Given the description of an element on the screen output the (x, y) to click on. 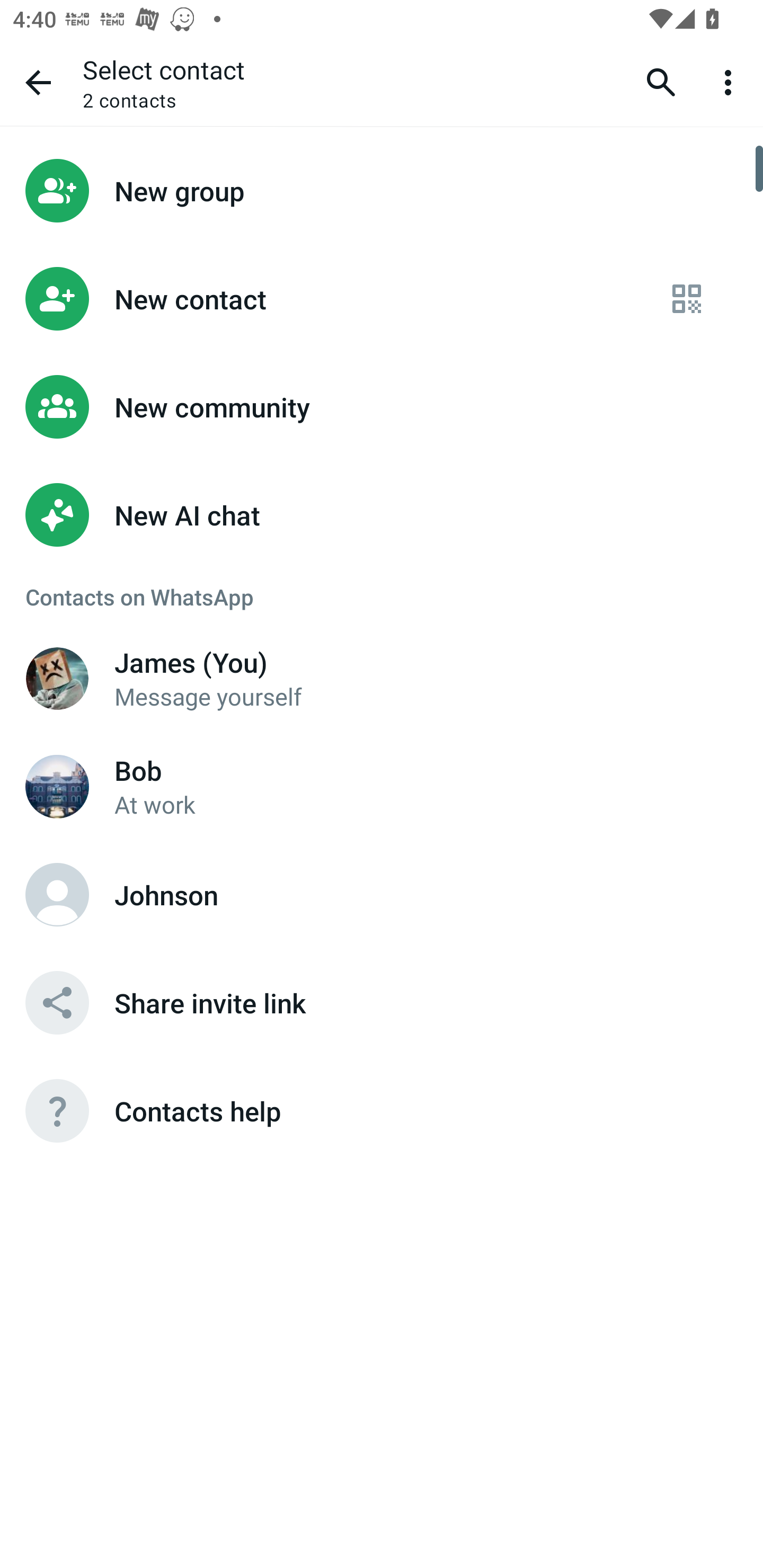
Navigate up (38, 82)
Search (661, 81)
More options (731, 81)
New group (381, 190)
New contact Scan, share QR code (381, 298)
Scan, share QR code (686, 298)
New community (381, 406)
New AI chat (381, 514)
Contacts on WhatsApp (381, 596)
+1 (646) 208-1425 James (You) Message yourself (381, 678)
+1 (646) 208-1425 (57, 678)
Bob Bob ‎At work   (381, 786)
Bob (57, 786)
Johnson (381, 894)
Johnson (57, 894)
Share invite link (381, 1002)
Contacts help (381, 1110)
